Given the description of an element on the screen output the (x, y) to click on. 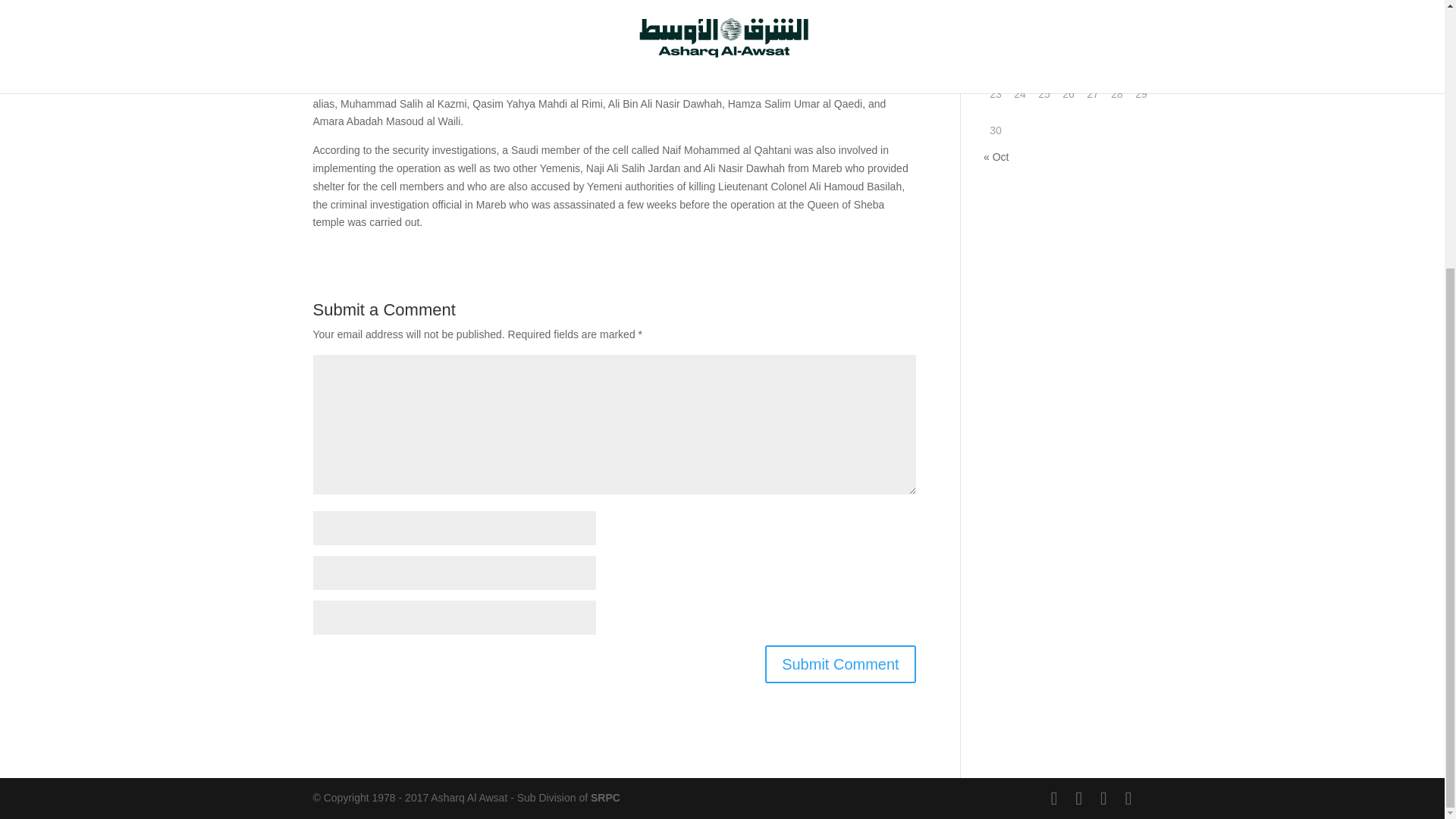
Submit Comment (840, 664)
SRPC (605, 797)
Submit Comment (840, 664)
